Given the description of an element on the screen output the (x, y) to click on. 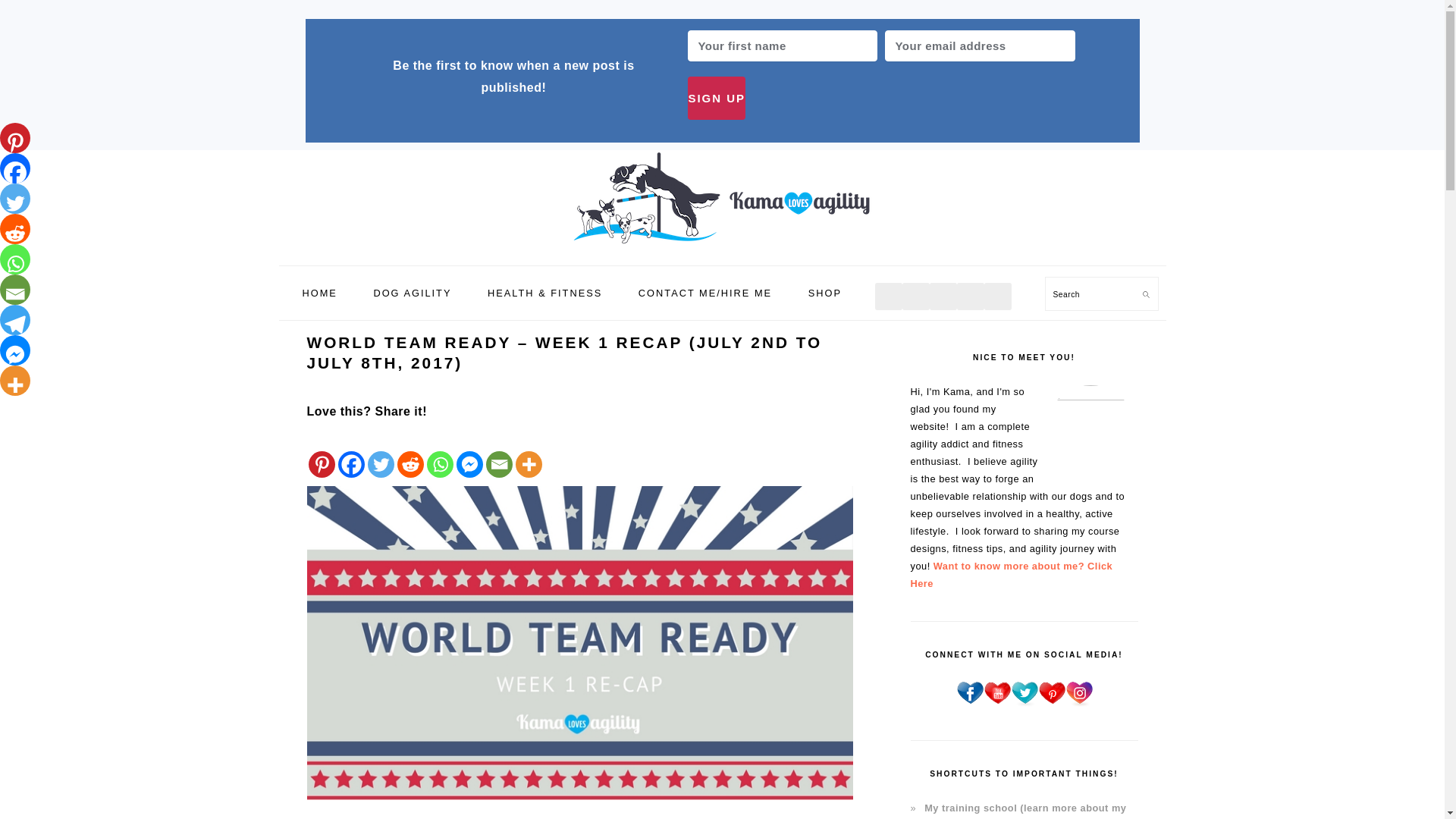
Pinterest (15, 137)
Facebook (15, 168)
SIGN UP (716, 97)
DOG AGILITY (411, 292)
HOME (318, 292)
Kama Loves Agility (721, 247)
Kama Loves Agility (721, 196)
Twitter (15, 198)
